Given the description of an element on the screen output the (x, y) to click on. 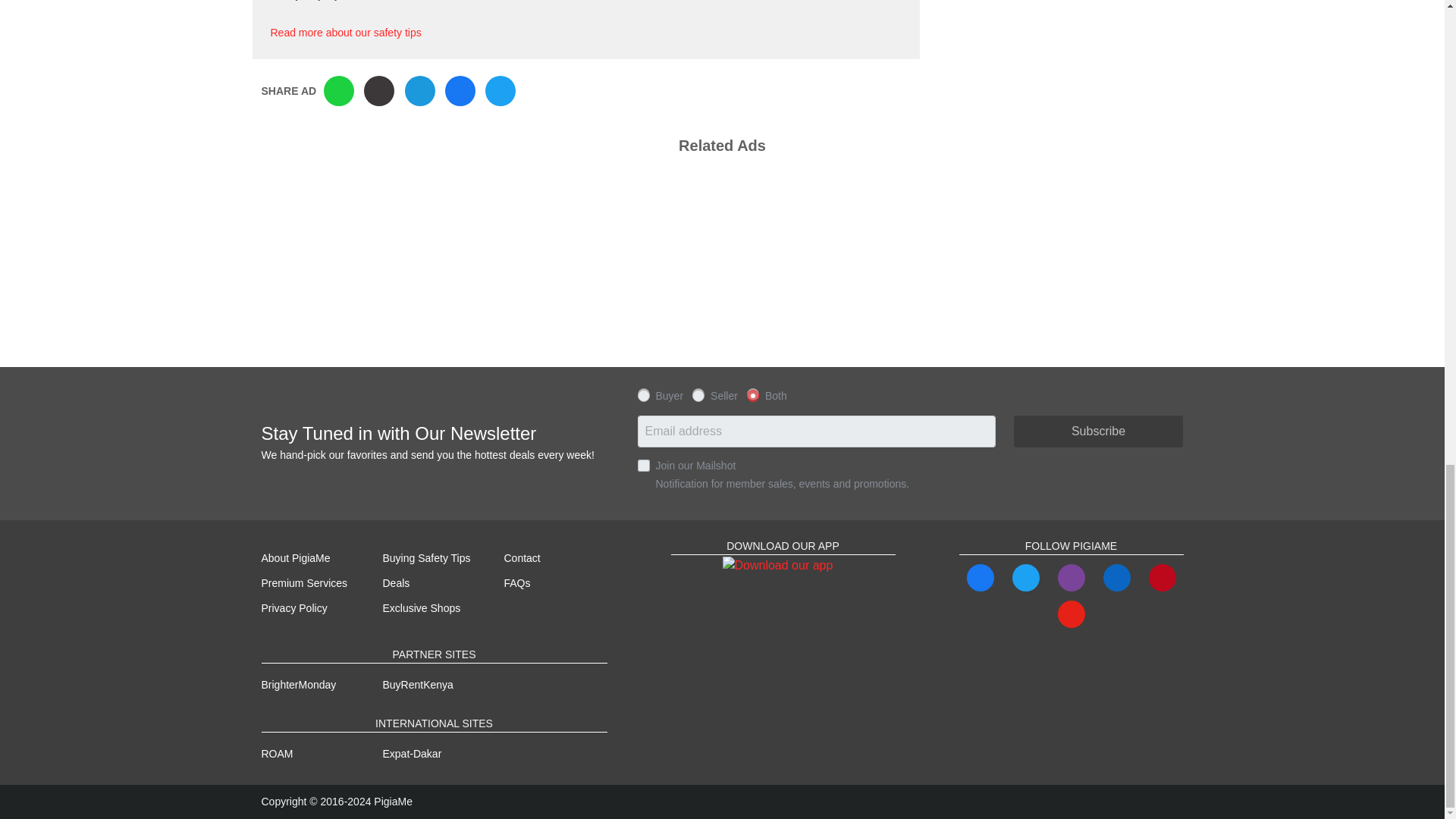
Share via Facebook (460, 91)
Share via Email (419, 91)
Share via Twitter (499, 91)
Read more about our safety tips (344, 32)
Copy link (379, 91)
Share via WhatsApp (338, 91)
